Given the description of an element on the screen output the (x, y) to click on. 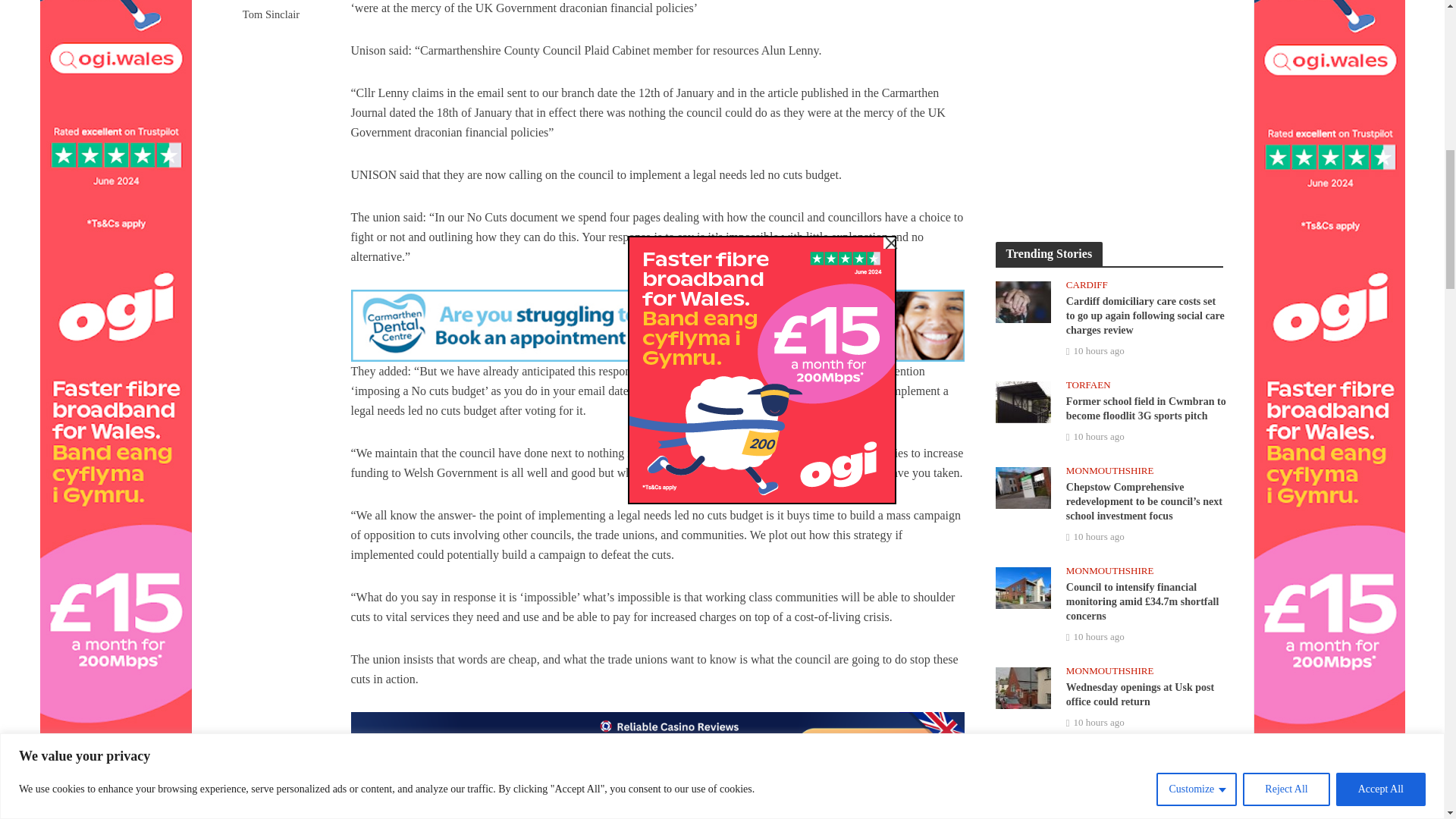
Wednesday openings at Usk post office could return (1021, 686)
Advertisement (1108, 105)
